Given the description of an element on the screen output the (x, y) to click on. 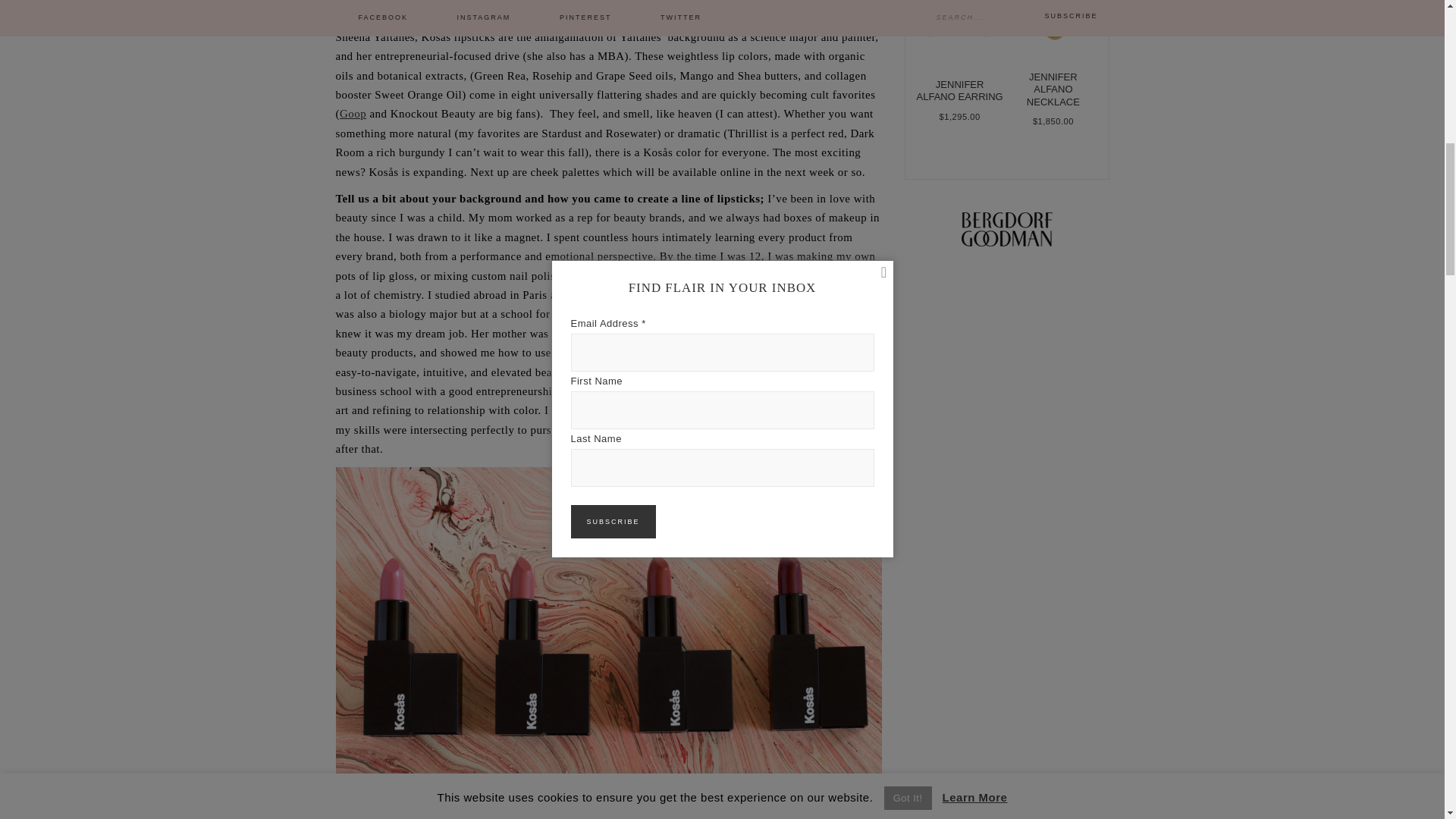
Goop (352, 113)
